Given the description of an element on the screen output the (x, y) to click on. 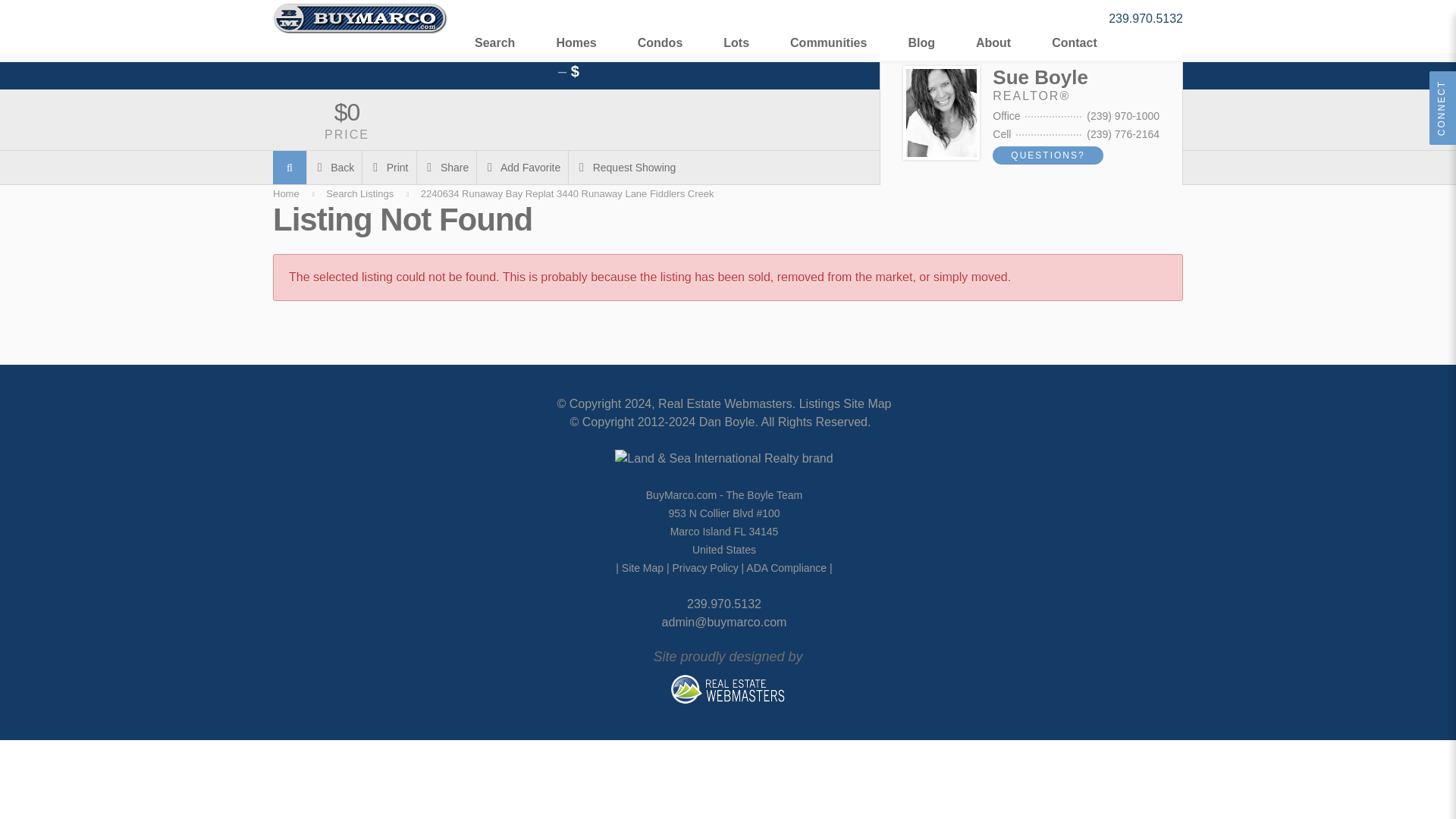
Search (494, 41)
Homes (575, 41)
Lots (736, 41)
Condos (660, 41)
Communities (828, 41)
